Given the description of an element on the screen output the (x, y) to click on. 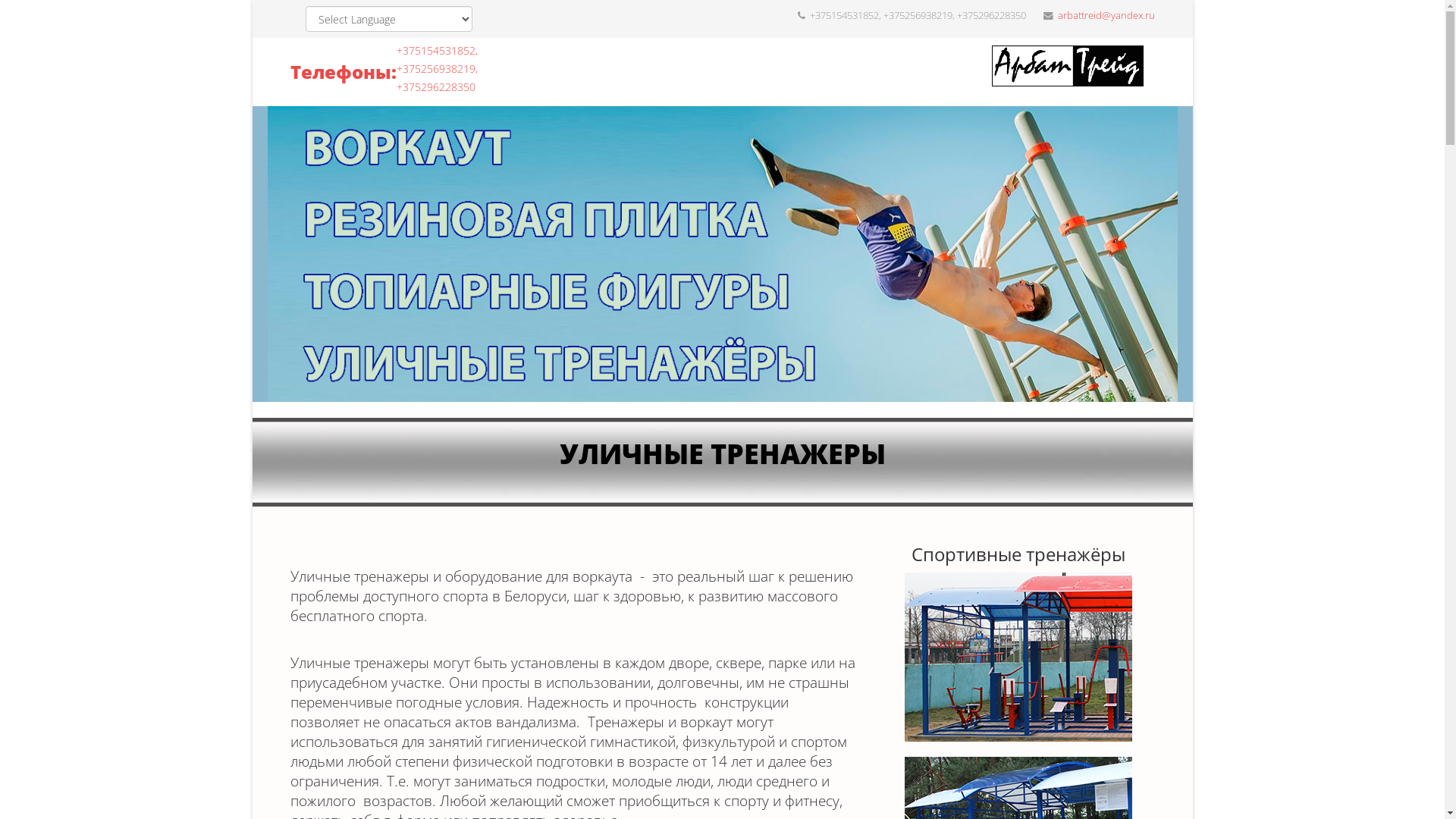
arbattreid@yandex.ru Element type: text (1105, 15)
